Given the description of an element on the screen output the (x, y) to click on. 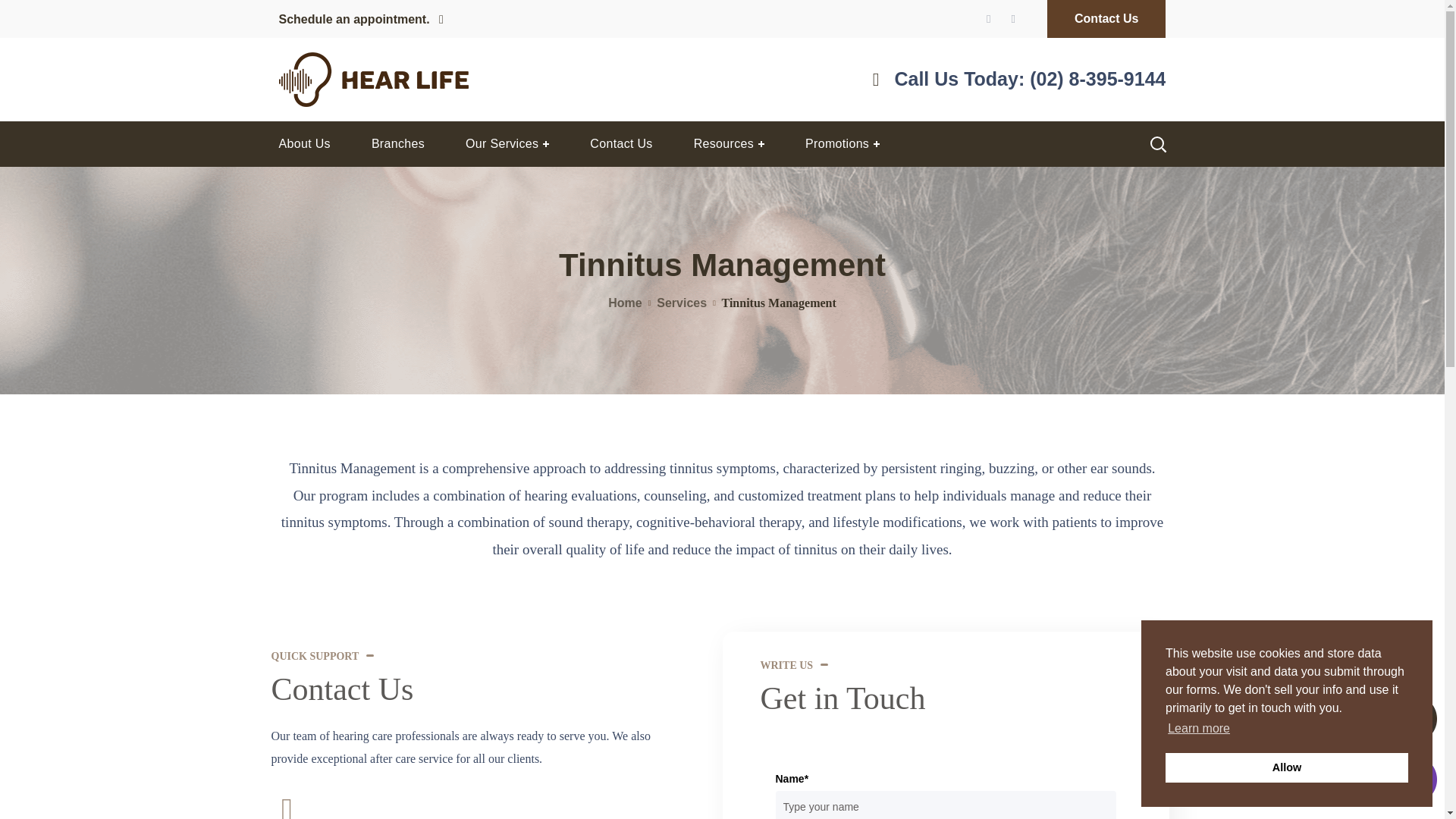
Branches (397, 144)
About Us (303, 144)
Promotions (841, 144)
Our Services (507, 144)
Contact Us (1106, 18)
Schedule an appointment. (361, 19)
Contact Us (620, 144)
Resources (728, 144)
Search (1118, 204)
